Given the description of an element on the screen output the (x, y) to click on. 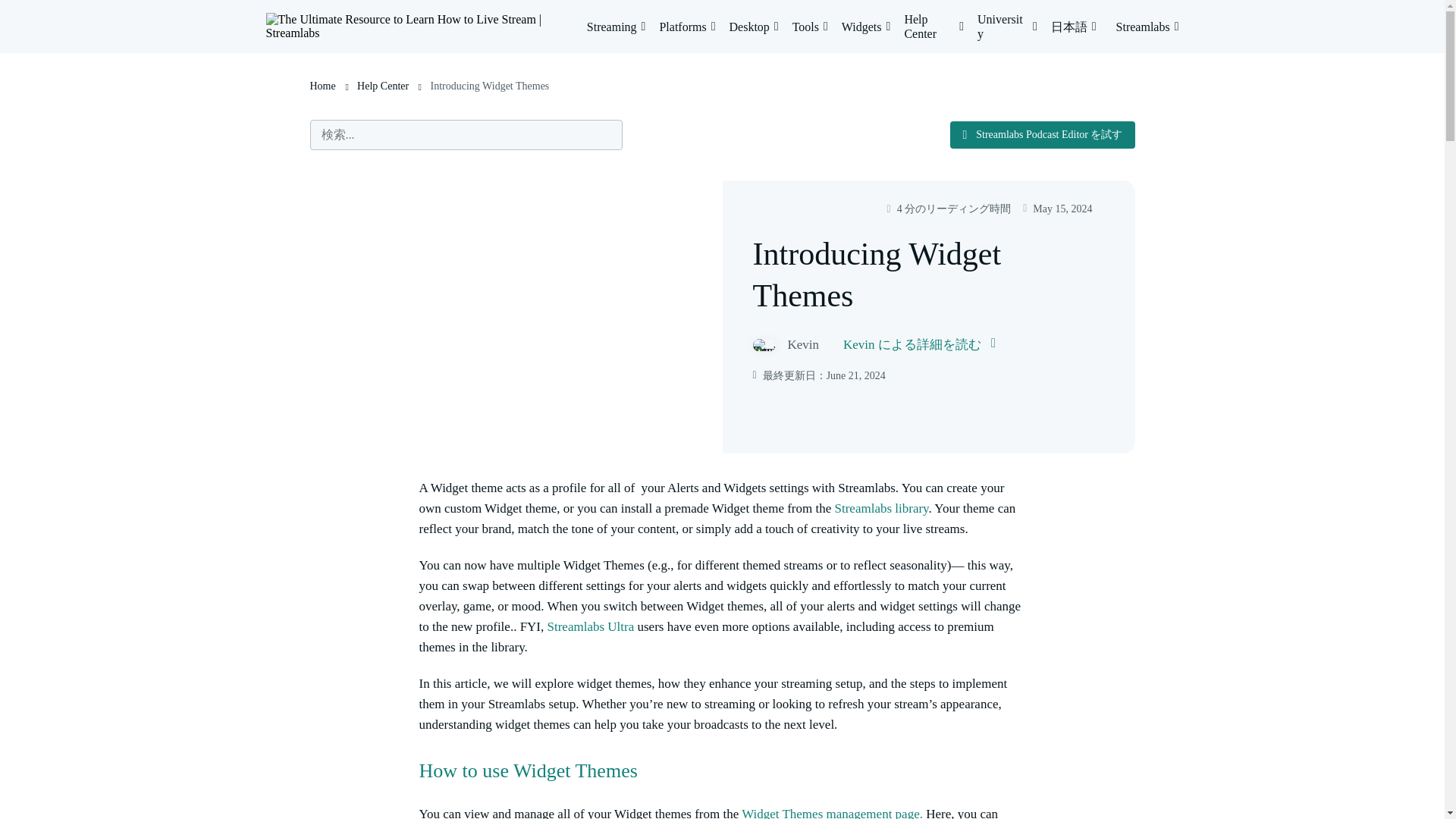
Desktop (753, 26)
Platforms (686, 26)
Tools (810, 26)
Streaming (616, 26)
Go to Streamlabs (1147, 26)
